Given the description of an element on the screen output the (x, y) to click on. 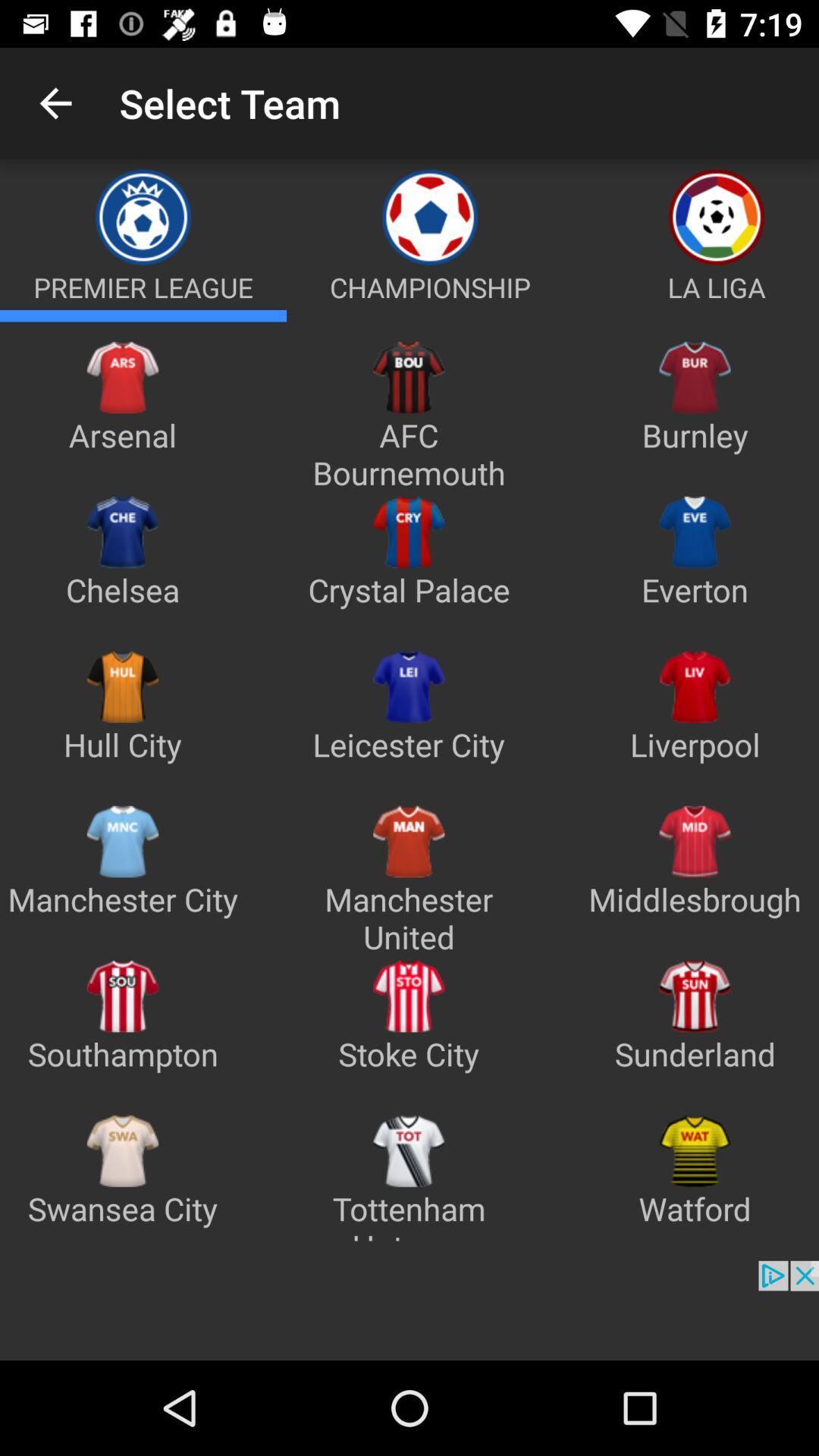
open page (143, 315)
